Given the description of an element on the screen output the (x, y) to click on. 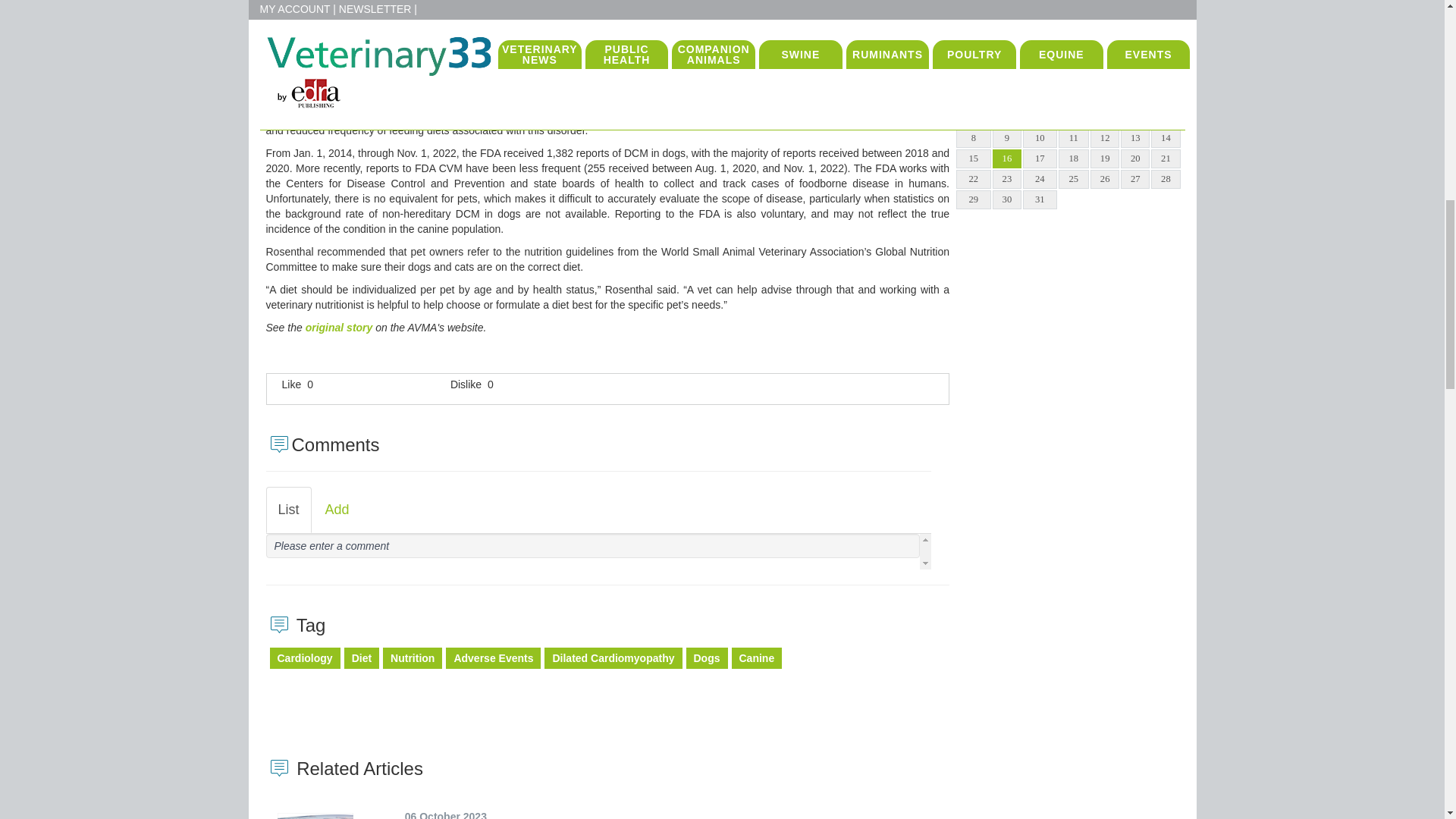
Wednesday (1039, 92)
Friday (1104, 92)
Monday (972, 92)
Tuesday (1006, 92)
Saturday (1135, 92)
Sunday (1165, 92)
Thursday (1072, 92)
